Given the description of an element on the screen output the (x, y) to click on. 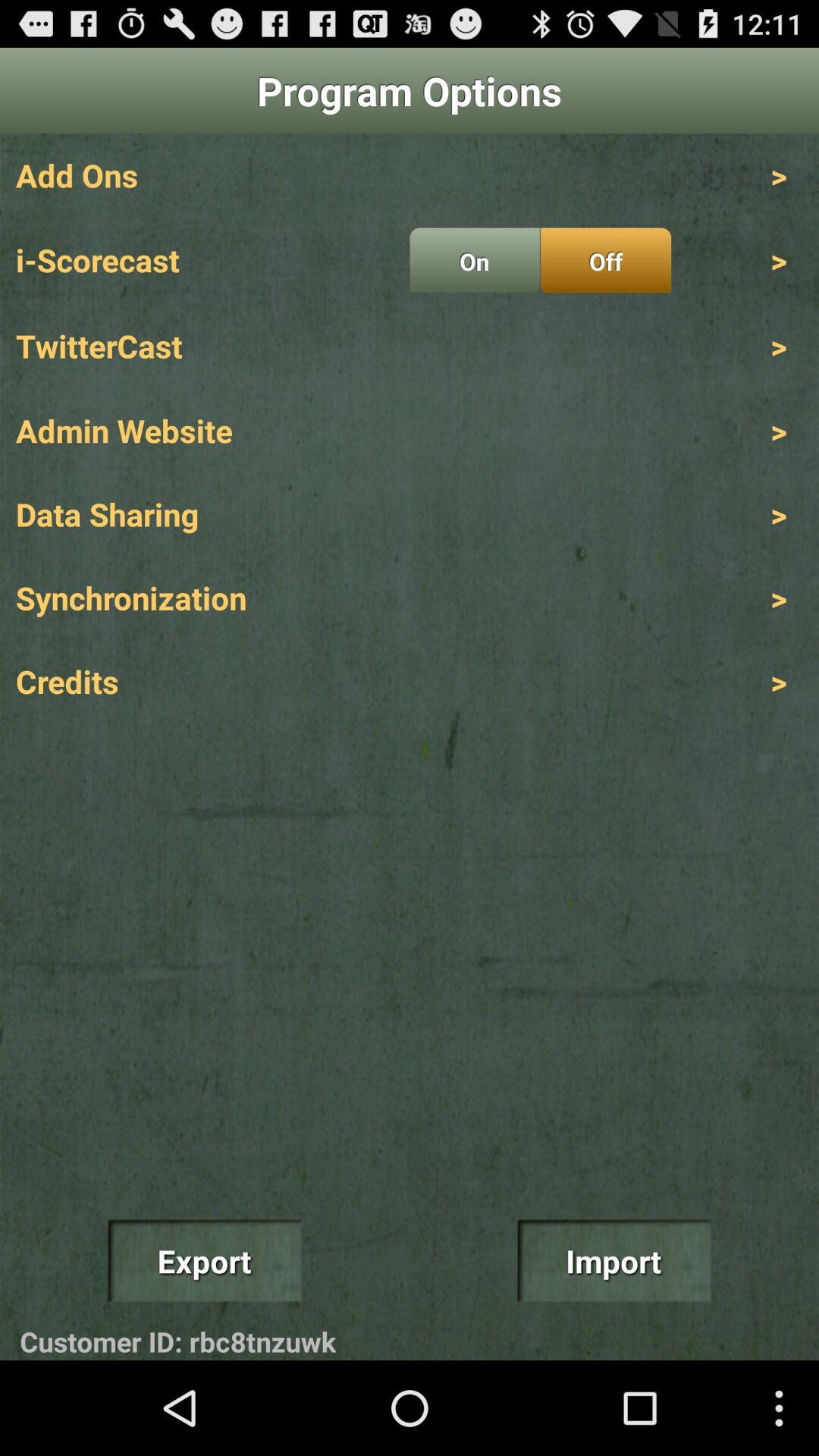
select the item below the add ons item (474, 259)
